Given the description of an element on the screen output the (x, y) to click on. 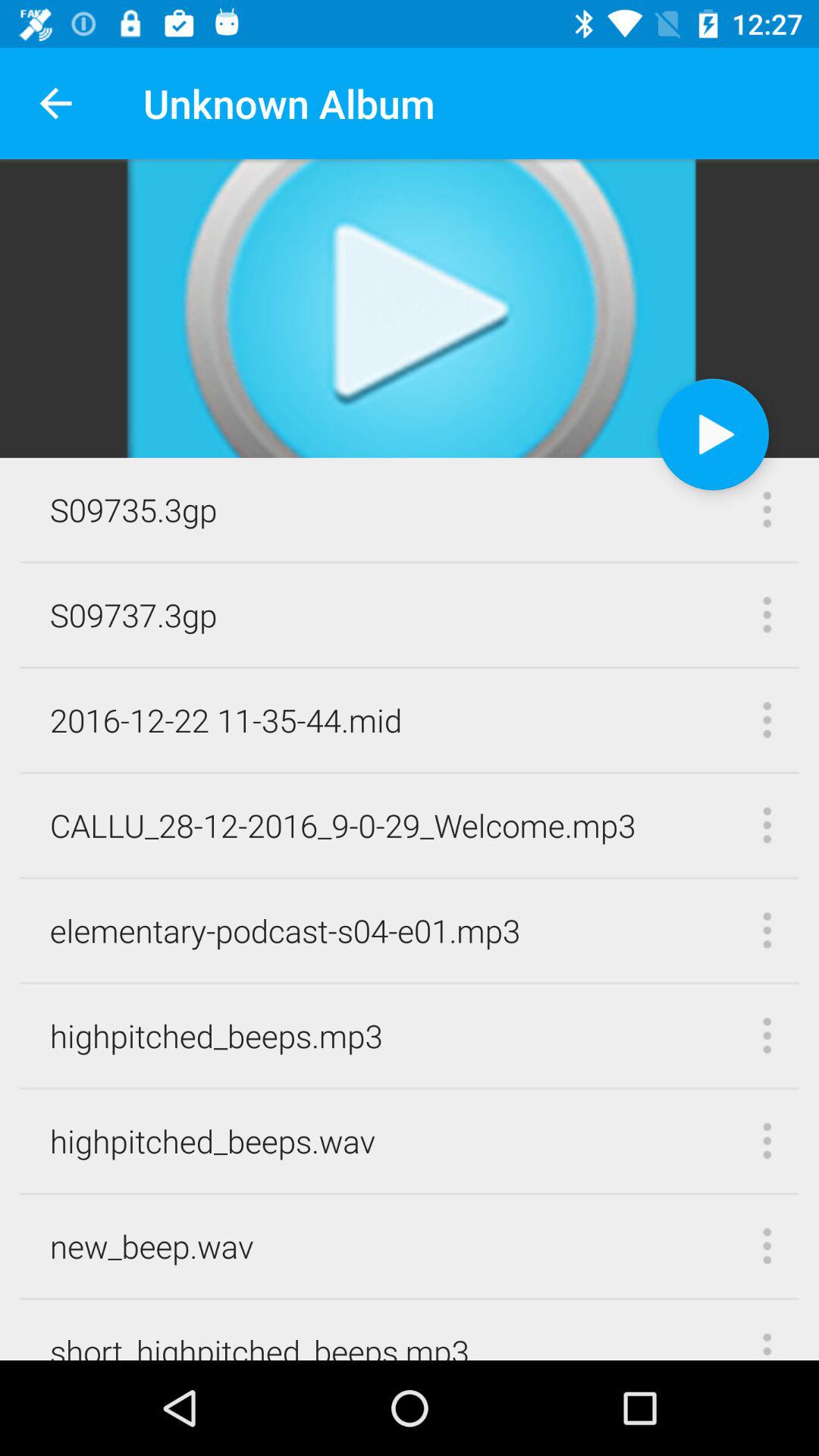
scroll to the new_beep.wav item (151, 1245)
